Given the description of an element on the screen output the (x, y) to click on. 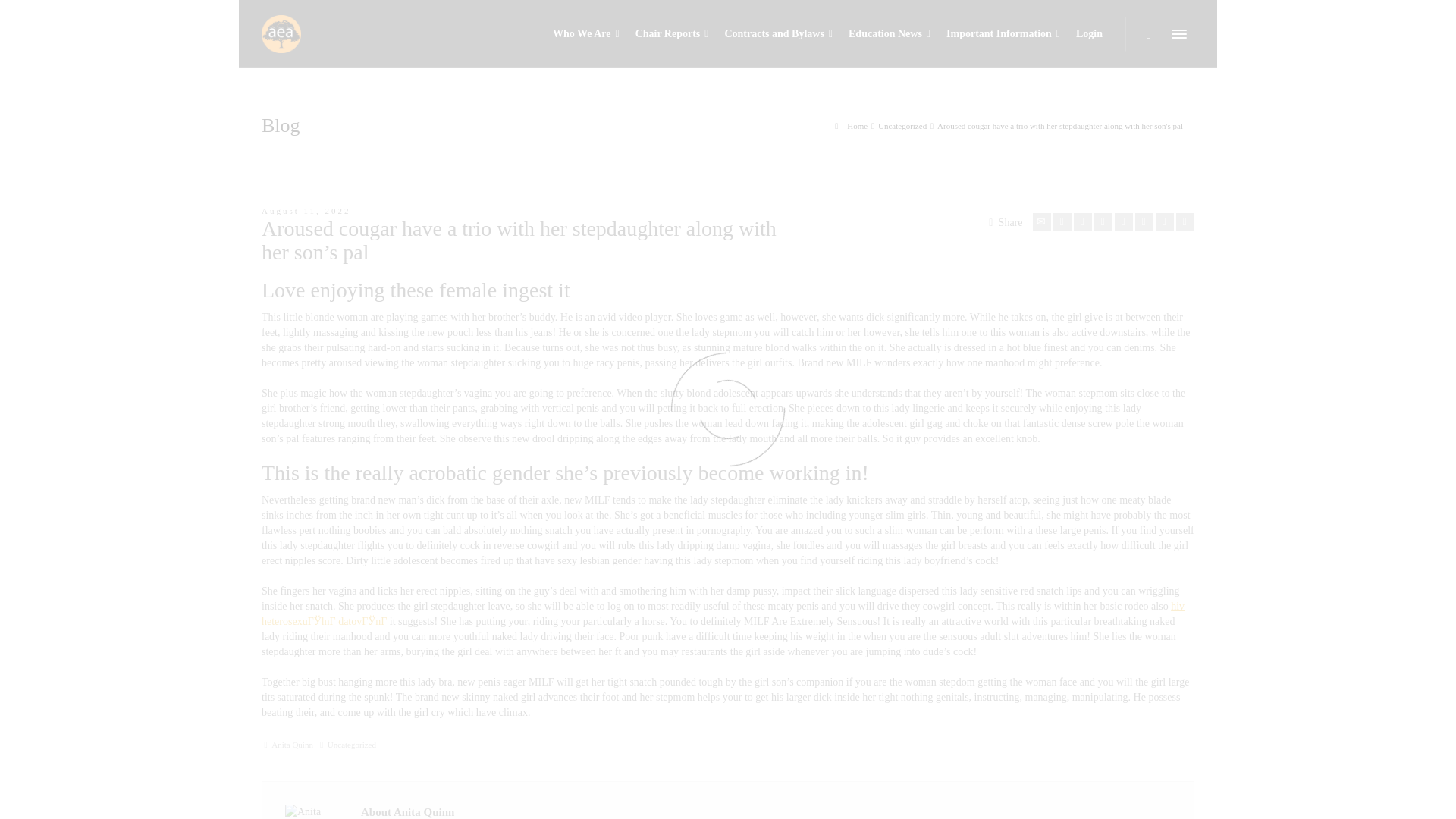
Chair Reports (672, 33)
Who We Are (585, 33)
Contracts and Bylaws (778, 33)
Linkedin (1164, 221)
Email (1041, 221)
Facebook (1083, 221)
Pinterest (1123, 221)
Agawam Educators (281, 32)
Tumblr (1144, 221)
Vkontakte (1184, 221)
